Given the description of an element on the screen output the (x, y) to click on. 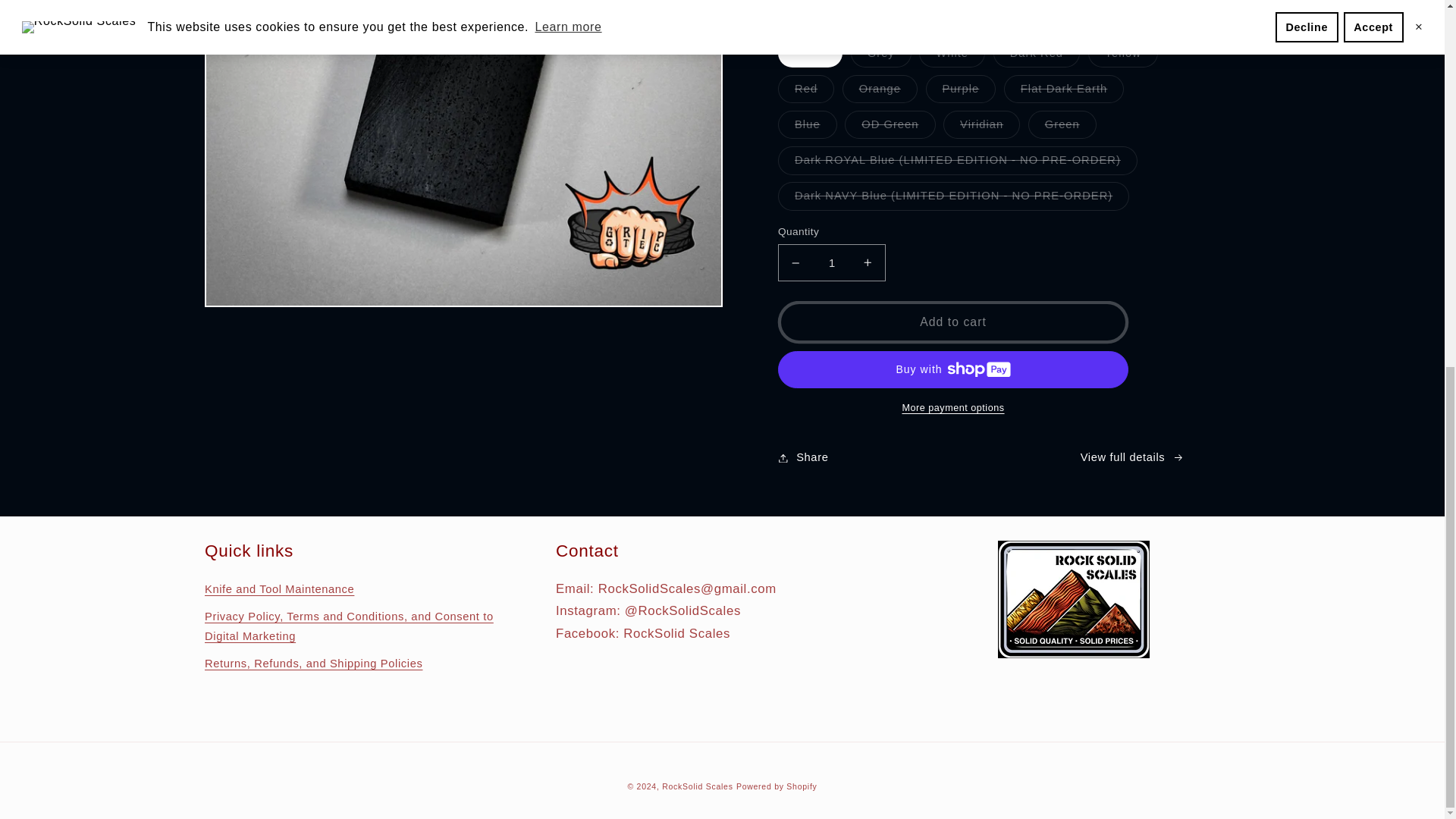
1 (831, 262)
Add to cart (952, 322)
More payment options (952, 408)
